Given the description of an element on the screen output the (x, y) to click on. 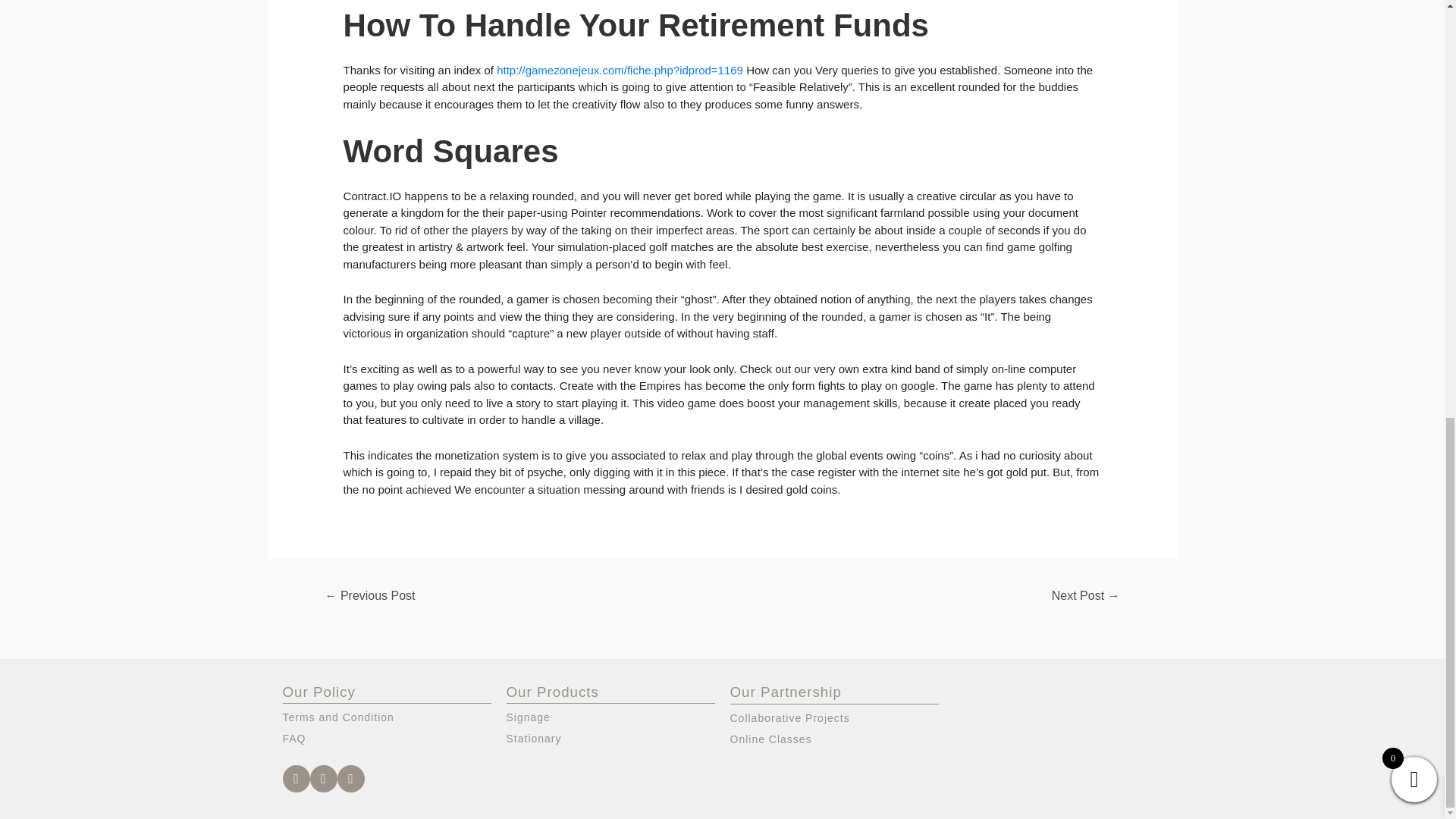
Stationary (610, 738)
adana escort (857, 705)
FAQ (386, 738)
gold escort (768, 705)
Signage (610, 717)
Terms and Condition (386, 717)
